Given the description of an element on the screen output the (x, y) to click on. 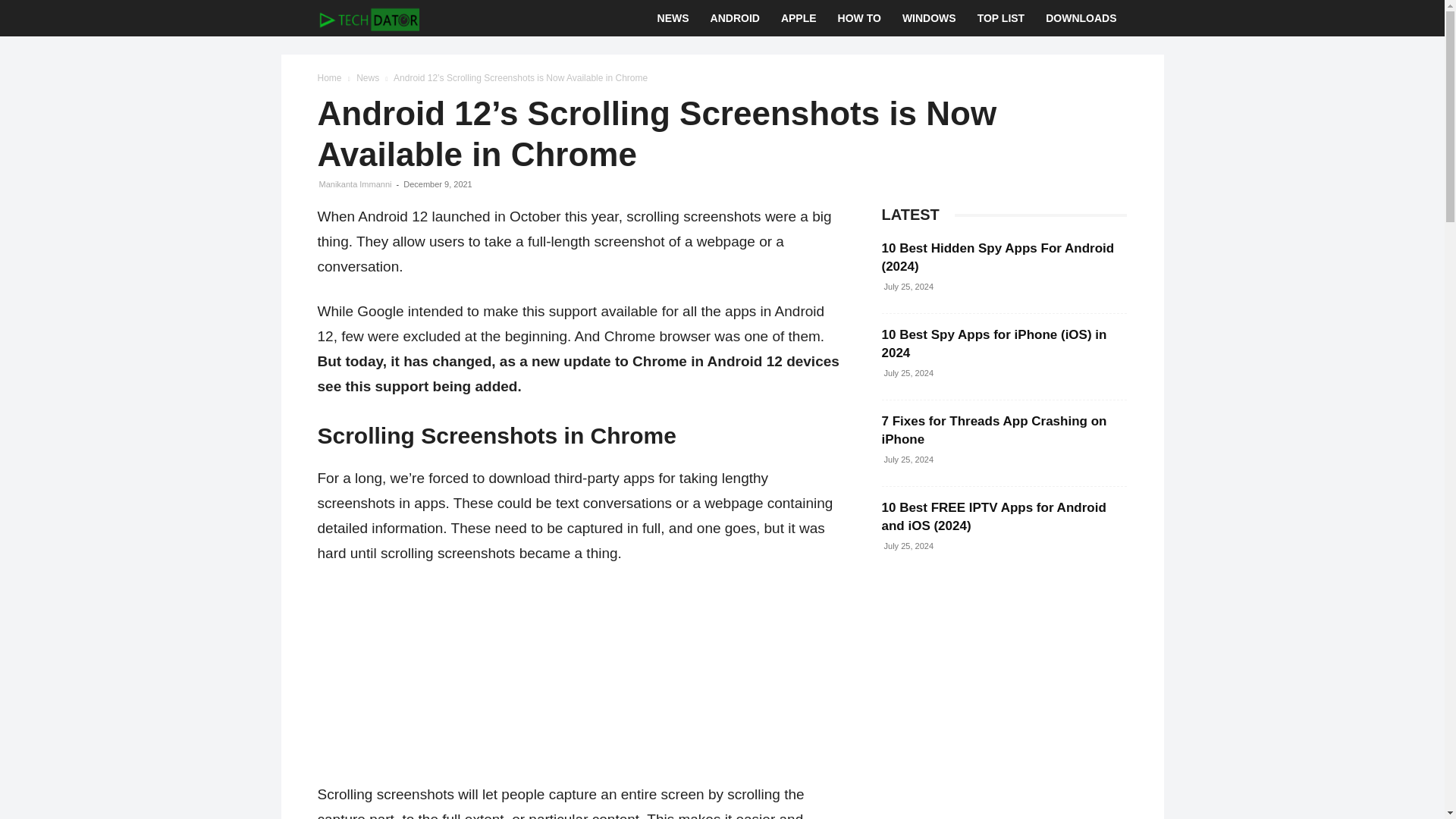
View all posts in News (367, 77)
Manikanta Immanni (354, 184)
TOP LIST (1000, 18)
TechDator (368, 18)
NEWS (673, 18)
HOW TO (859, 18)
TechDator (368, 18)
Home (328, 77)
APPLE (798, 18)
News (367, 77)
ANDROID (735, 18)
WINDOWS (928, 18)
DOWNLOADS (1080, 18)
